Given the description of an element on the screen output the (x, y) to click on. 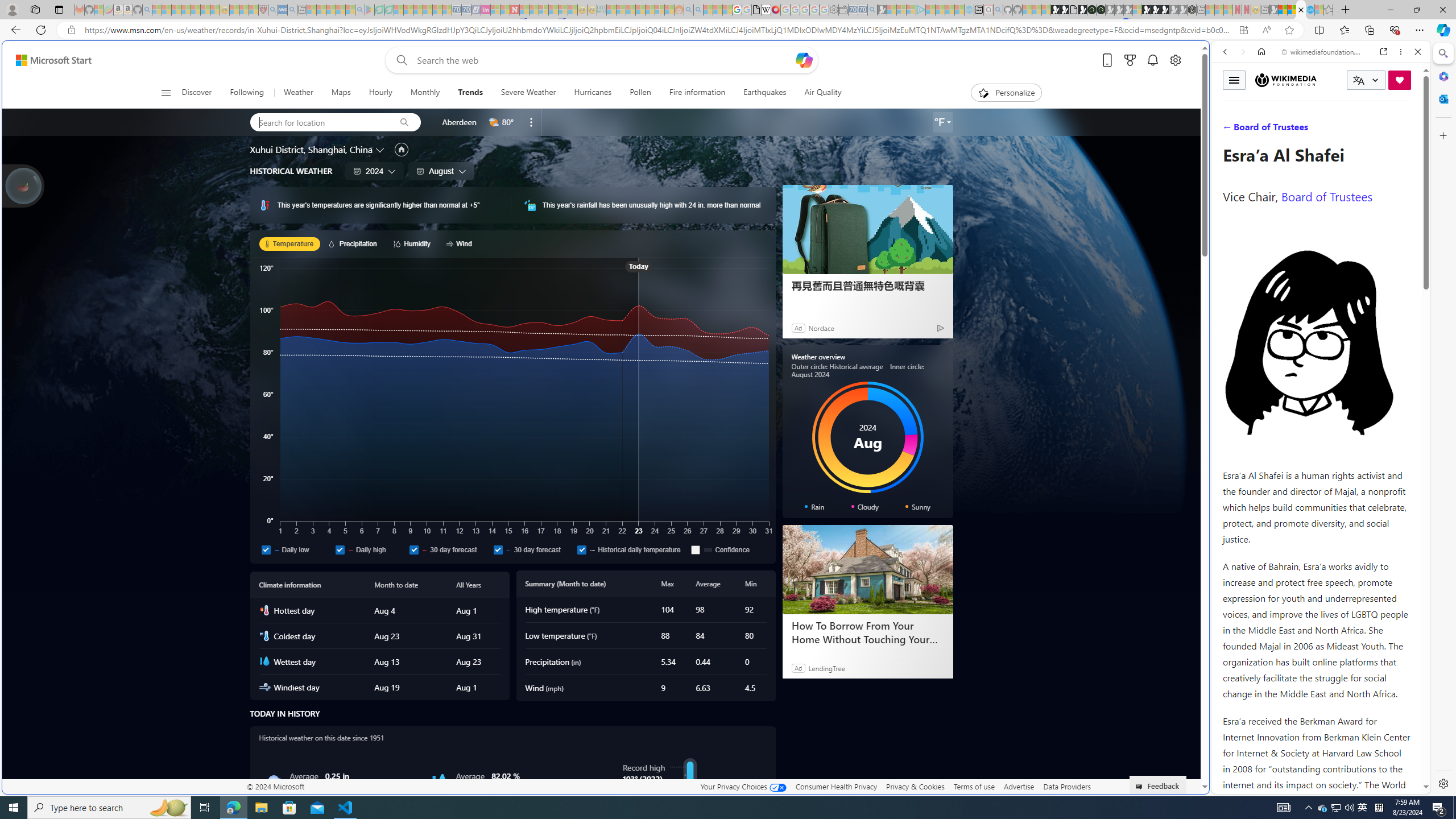
30 day forecast (497, 549)
Temperature (289, 243)
Earthquakes (763, 92)
